Given the description of an element on the screen output the (x, y) to click on. 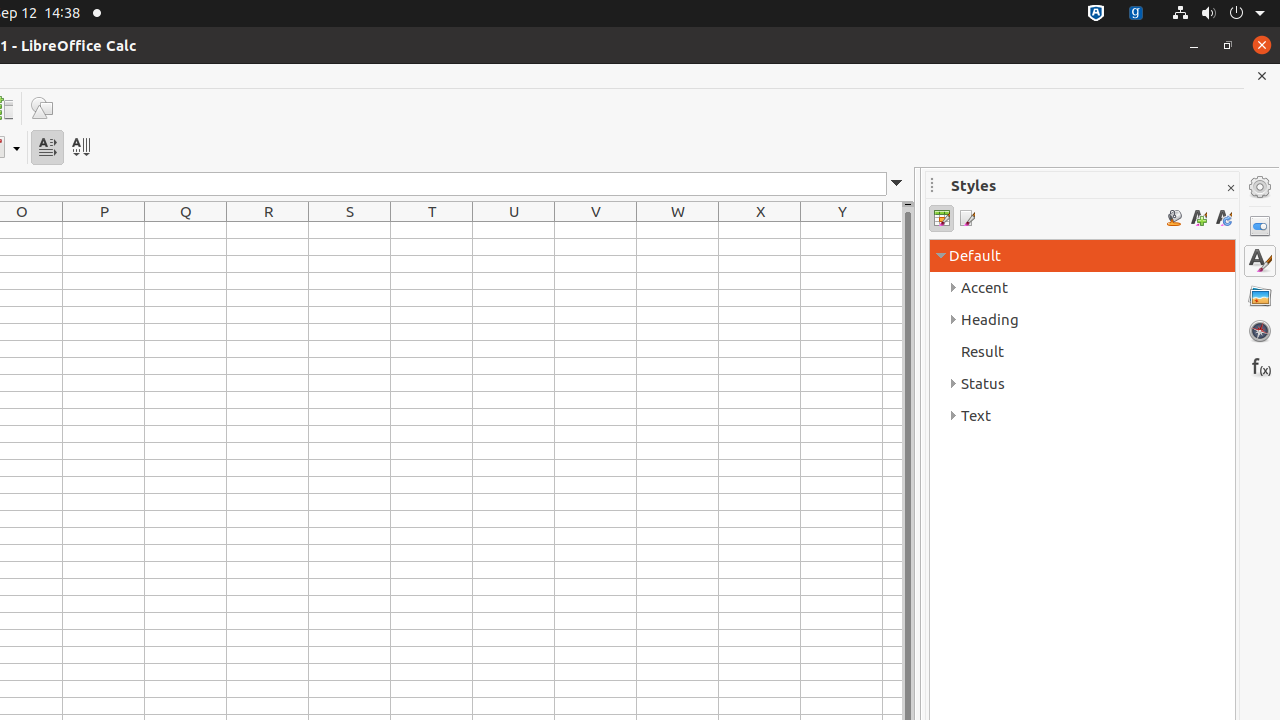
V1 Element type: table-cell (596, 230)
Text direction from top to bottom Element type: toggle-button (80, 147)
R1 Element type: table-cell (268, 230)
Update Style Element type: push-button (1223, 218)
System Element type: menu (1218, 13)
